Given the description of an element on the screen output the (x, y) to click on. 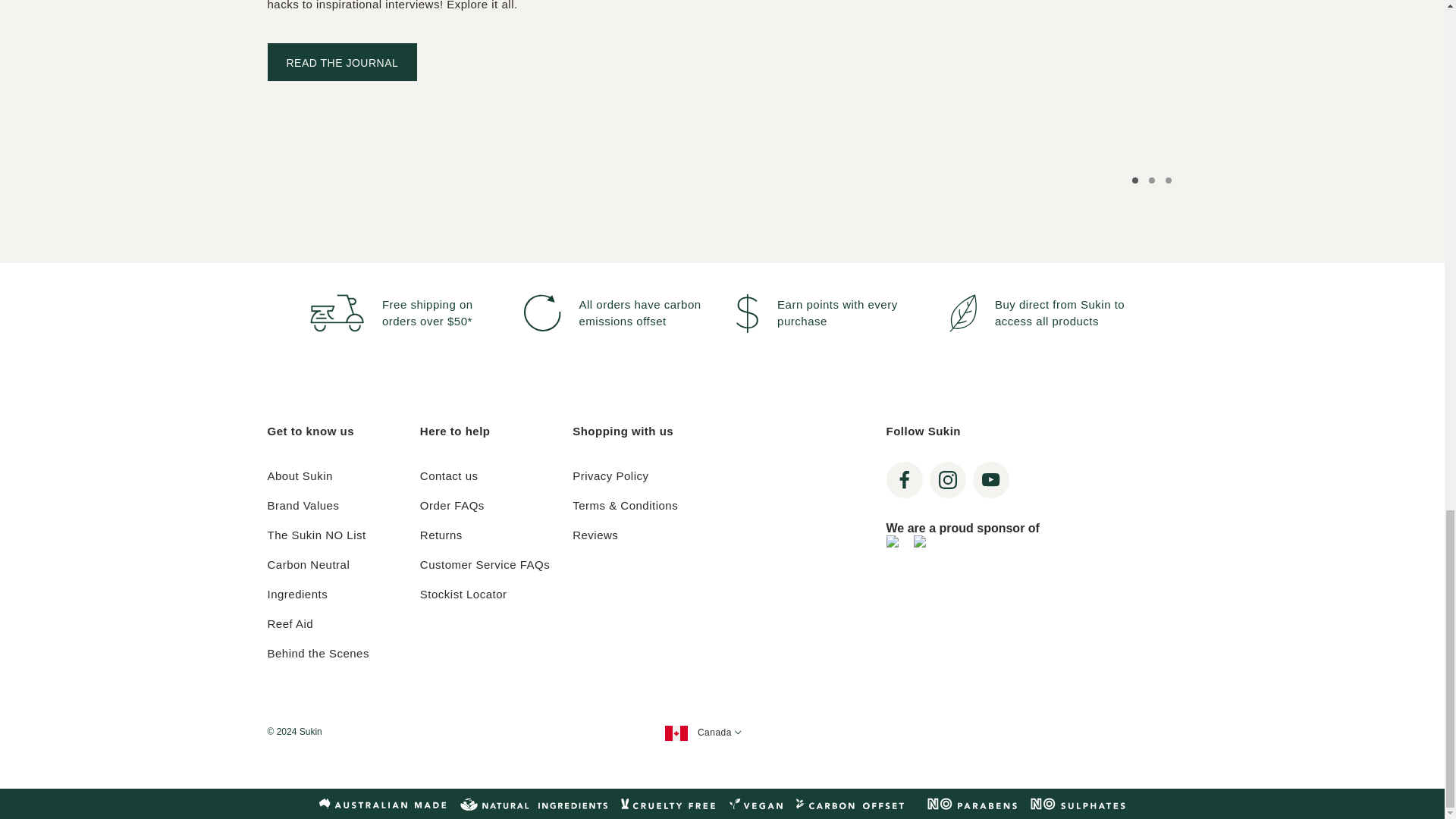
Condensed Natural Condensed Natural Icon (533, 803)
Instagram Instagram Icon (947, 479)
Youtube Youtube Icon (989, 479)
Cn Flag Cn Flag Icon (676, 732)
Facebook Facebook Icon (903, 479)
Condensed Cruelty Free Condensed Cruelty Free Icon (667, 803)
Condensed Carbon Neutral Condensed Carbon Neutral Icon (855, 803)
Condensed No Parabens Condensed No Parabens Icon (972, 803)
Condensed Australian Made Condensed Australian Made Icon (382, 803)
